Given the description of an element on the screen output the (x, y) to click on. 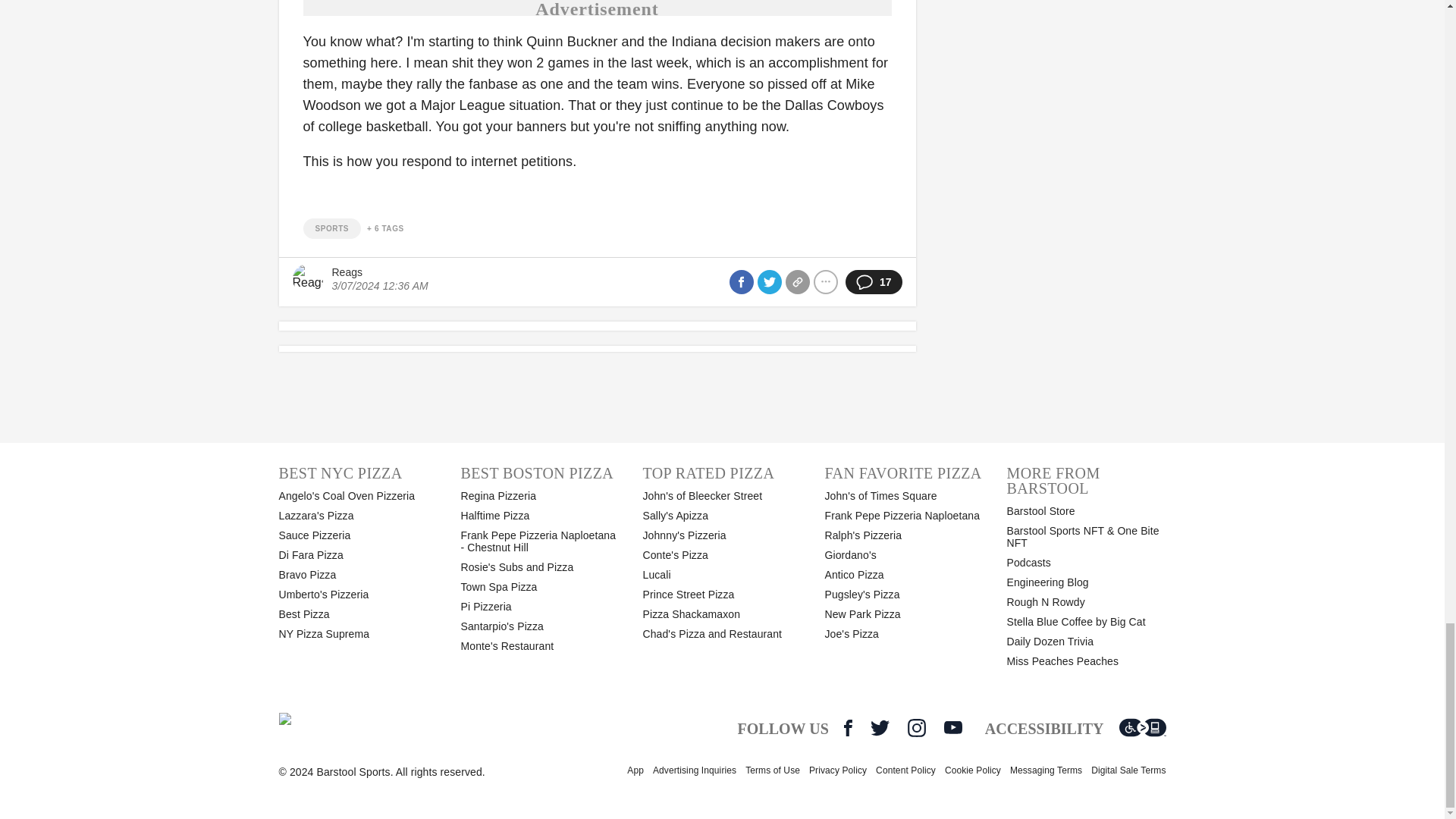
Instagram Icon (916, 728)
YouTube Icon (952, 727)
Twitter Icon (879, 728)
Level Access website accessibility icon (1142, 727)
